Given the description of an element on the screen output the (x, y) to click on. 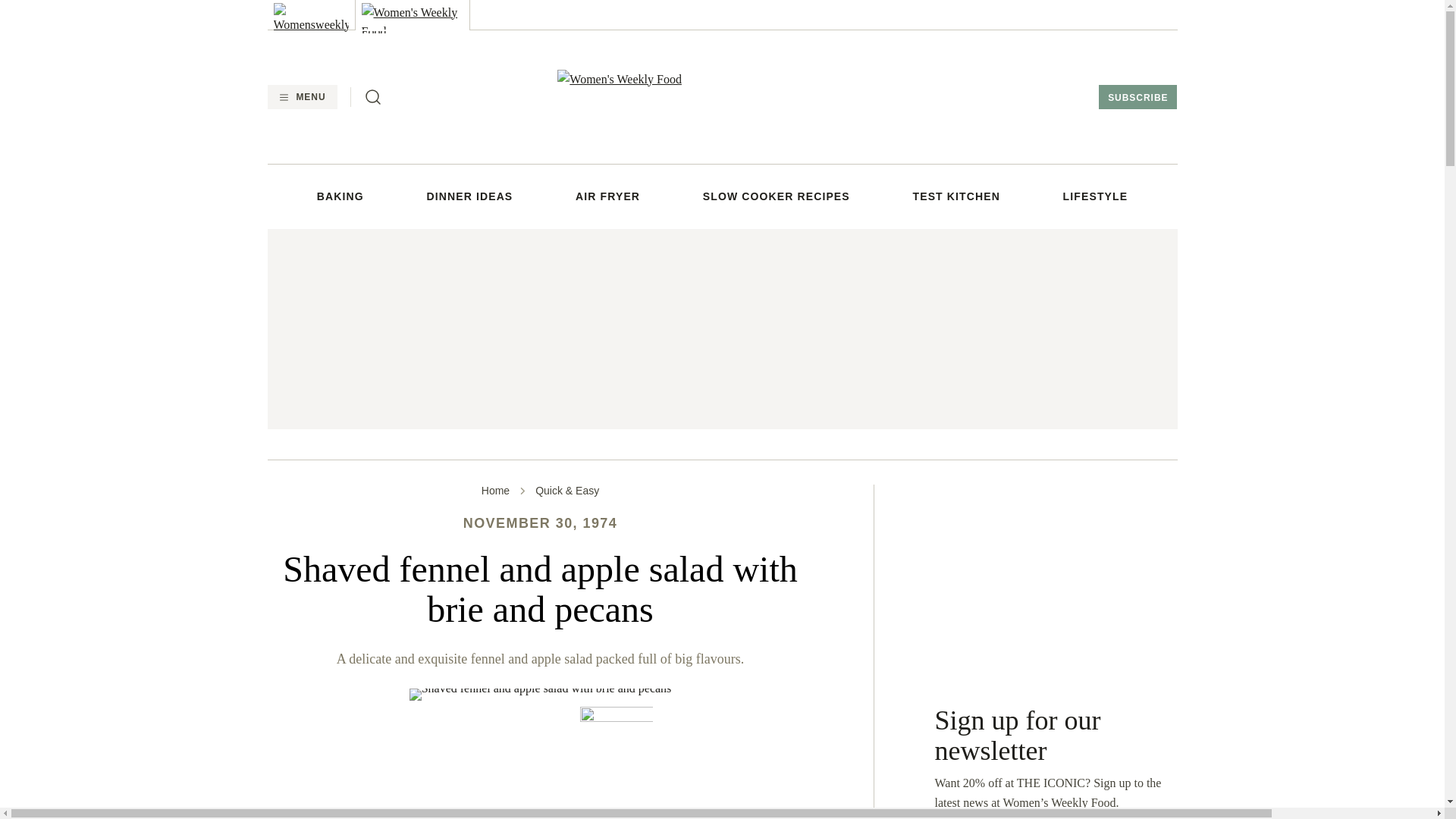
DINNER IDEAS (469, 196)
LIFESTYLE (1095, 196)
TEST KITCHEN (956, 196)
SLOW COOKER RECIPES (776, 196)
BAKING (340, 196)
MENU (301, 96)
SUBSCRIBE (1137, 96)
AIR FRYER (607, 196)
